Given the description of an element on the screen output the (x, y) to click on. 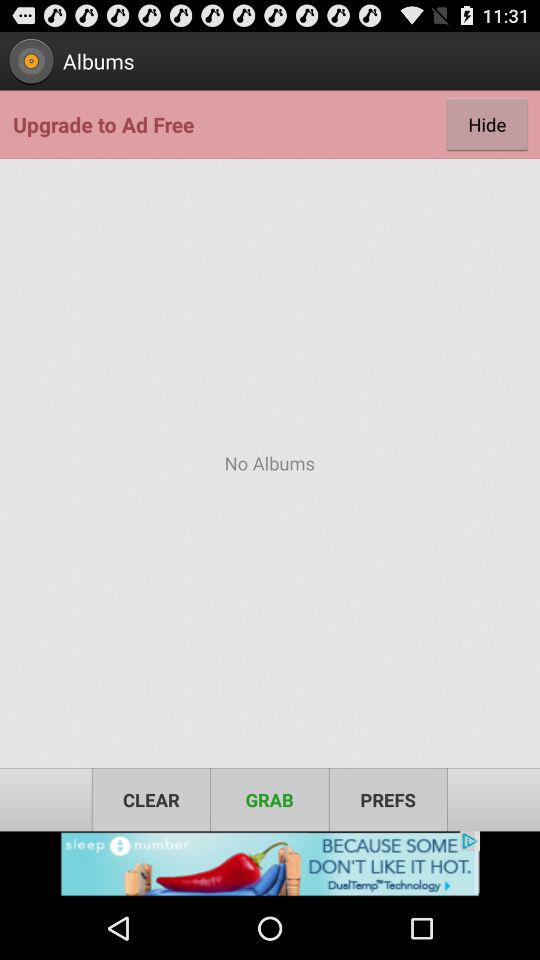
advertisement for sleep number (270, 864)
